Given the description of an element on the screen output the (x, y) to click on. 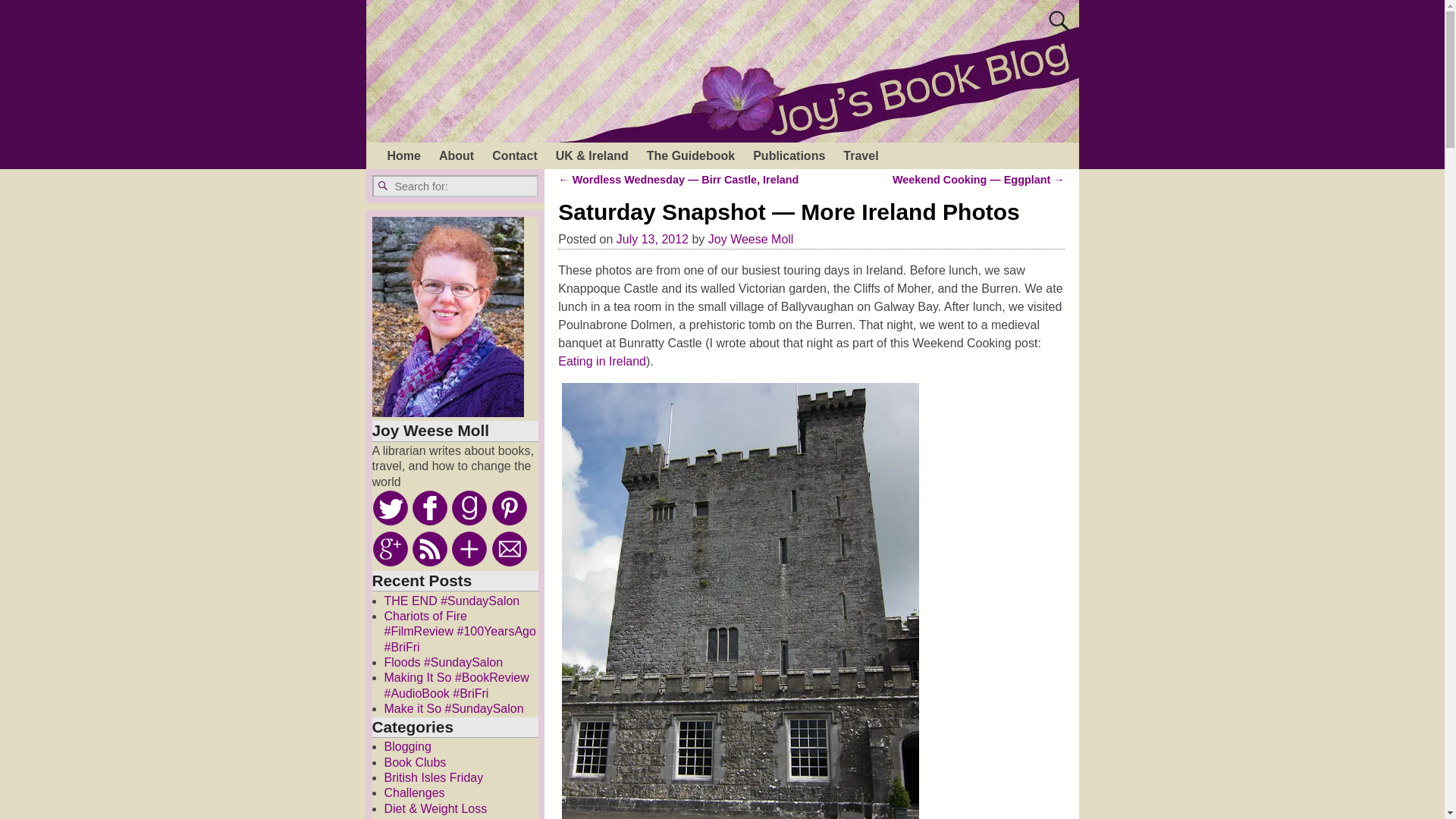
Eating in Ireland (601, 360)
Home (403, 155)
View all posts by Joy Weese Moll (750, 238)
Contact (515, 155)
Home (403, 155)
About (456, 155)
Publications (789, 155)
Joy Weese Moll (750, 238)
The Guidebook (690, 155)
July 13, 2012 (651, 238)
Travel (860, 155)
11:00 pm (651, 238)
